Given the description of an element on the screen output the (x, y) to click on. 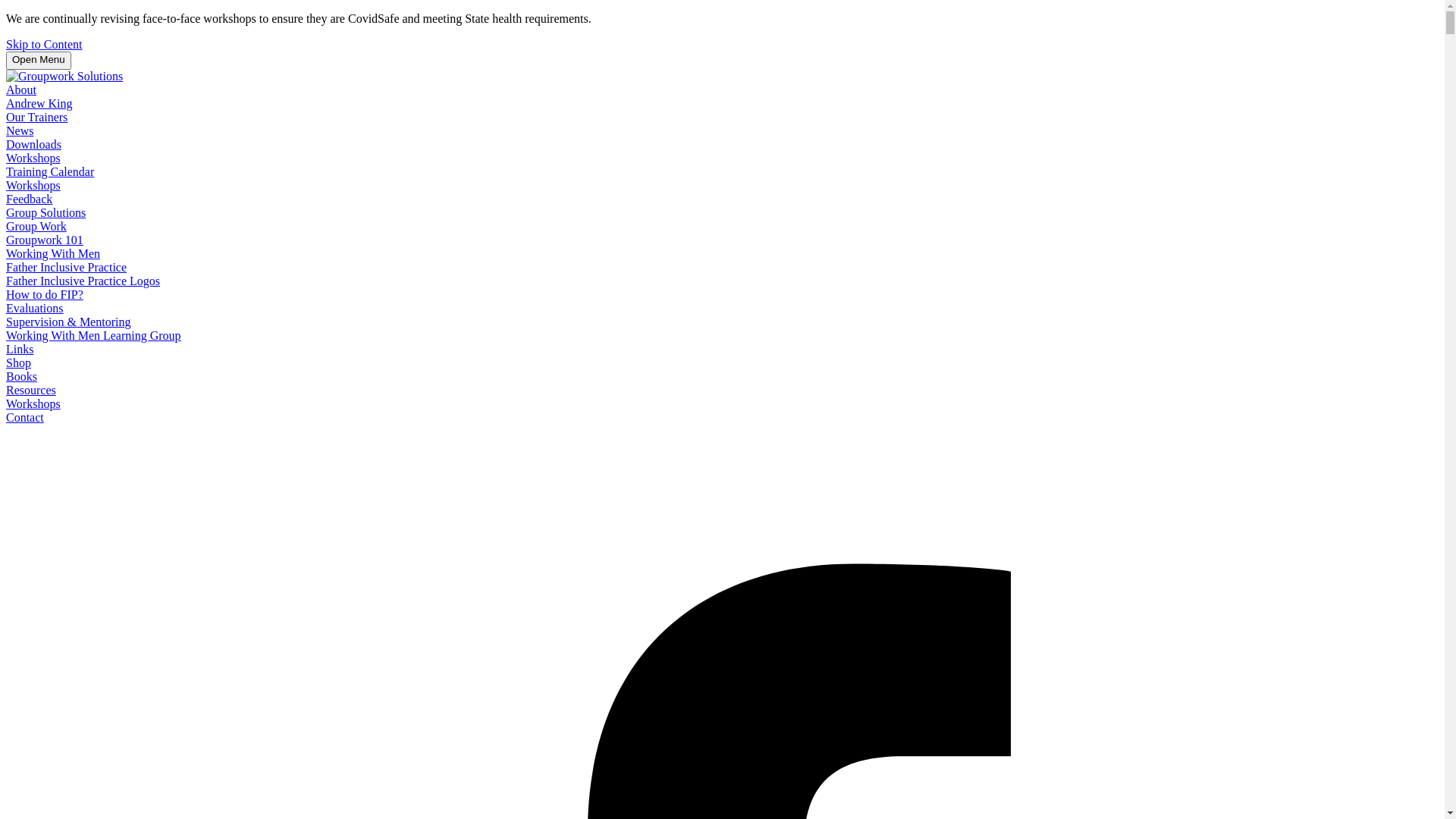
Groupwork 101 Element type: text (44, 239)
Skip to Content Element type: text (43, 43)
How to do FIP? Element type: text (44, 294)
Contact Element type: text (24, 417)
Training Calendar Element type: text (50, 171)
Open Menu Element type: text (38, 60)
Our Trainers Element type: text (36, 116)
Group Solutions Element type: text (45, 212)
Working With Men Element type: text (53, 253)
Father Inclusive Practice Element type: text (66, 266)
Shop Element type: text (18, 362)
Downloads Element type: text (33, 144)
Workshops Element type: text (33, 157)
Group Work Element type: text (36, 225)
News Element type: text (19, 130)
Working With Men Learning Group Element type: text (93, 335)
Feedback Element type: text (29, 198)
Resources Element type: text (31, 389)
About Element type: text (21, 89)
Evaluations Element type: text (34, 307)
Links Element type: text (19, 348)
Andrew King Element type: text (39, 103)
Supervision & Mentoring Element type: text (68, 321)
Books Element type: text (21, 376)
Workshops Element type: text (33, 184)
Workshops Element type: text (33, 403)
Father Inclusive Practice Logos Element type: text (83, 280)
